Given the description of an element on the screen output the (x, y) to click on. 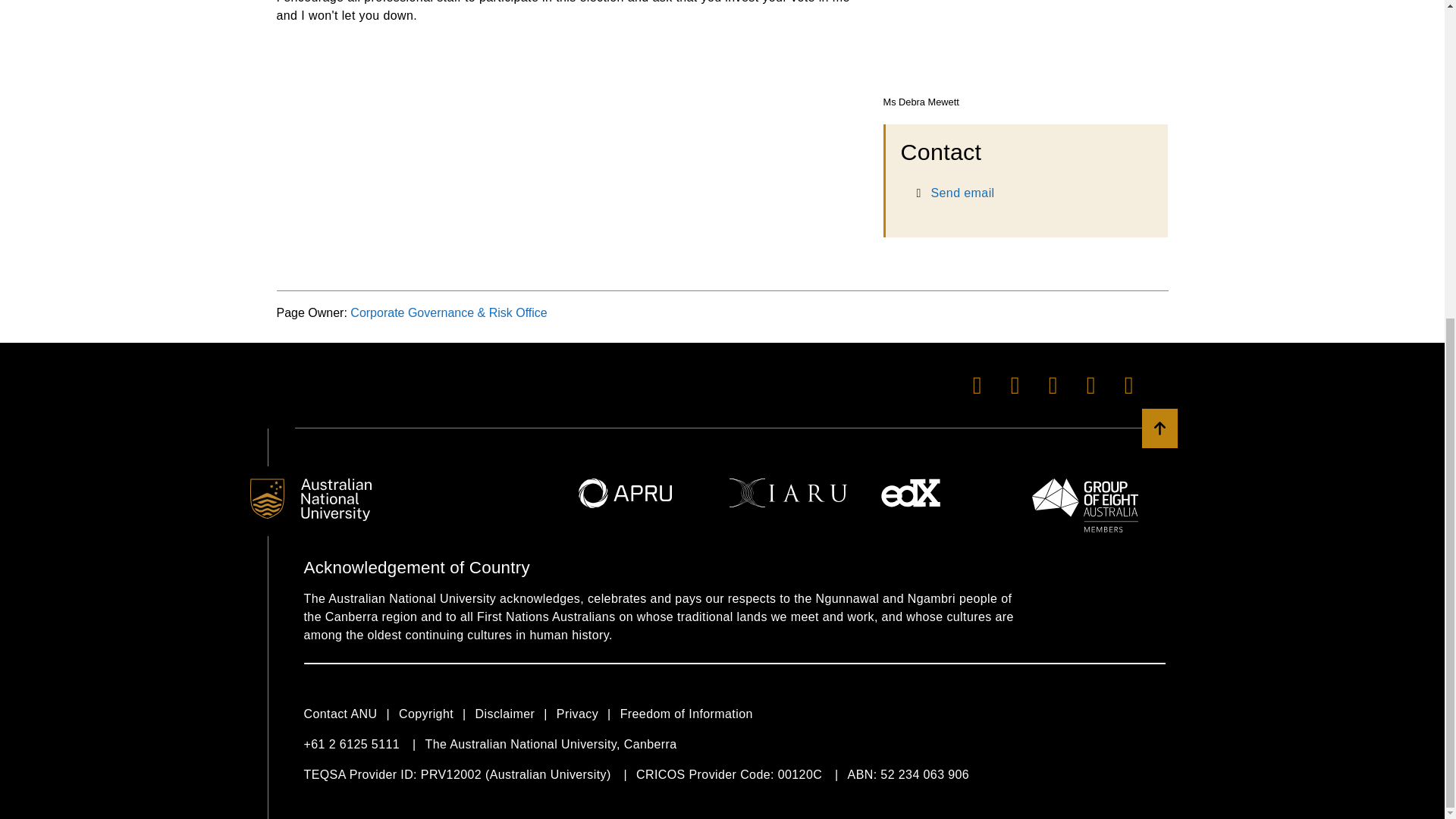
Back to top (1159, 427)
Copyright (437, 714)
Contact ANU (349, 714)
Send email (962, 192)
